Given the description of an element on the screen output the (x, y) to click on. 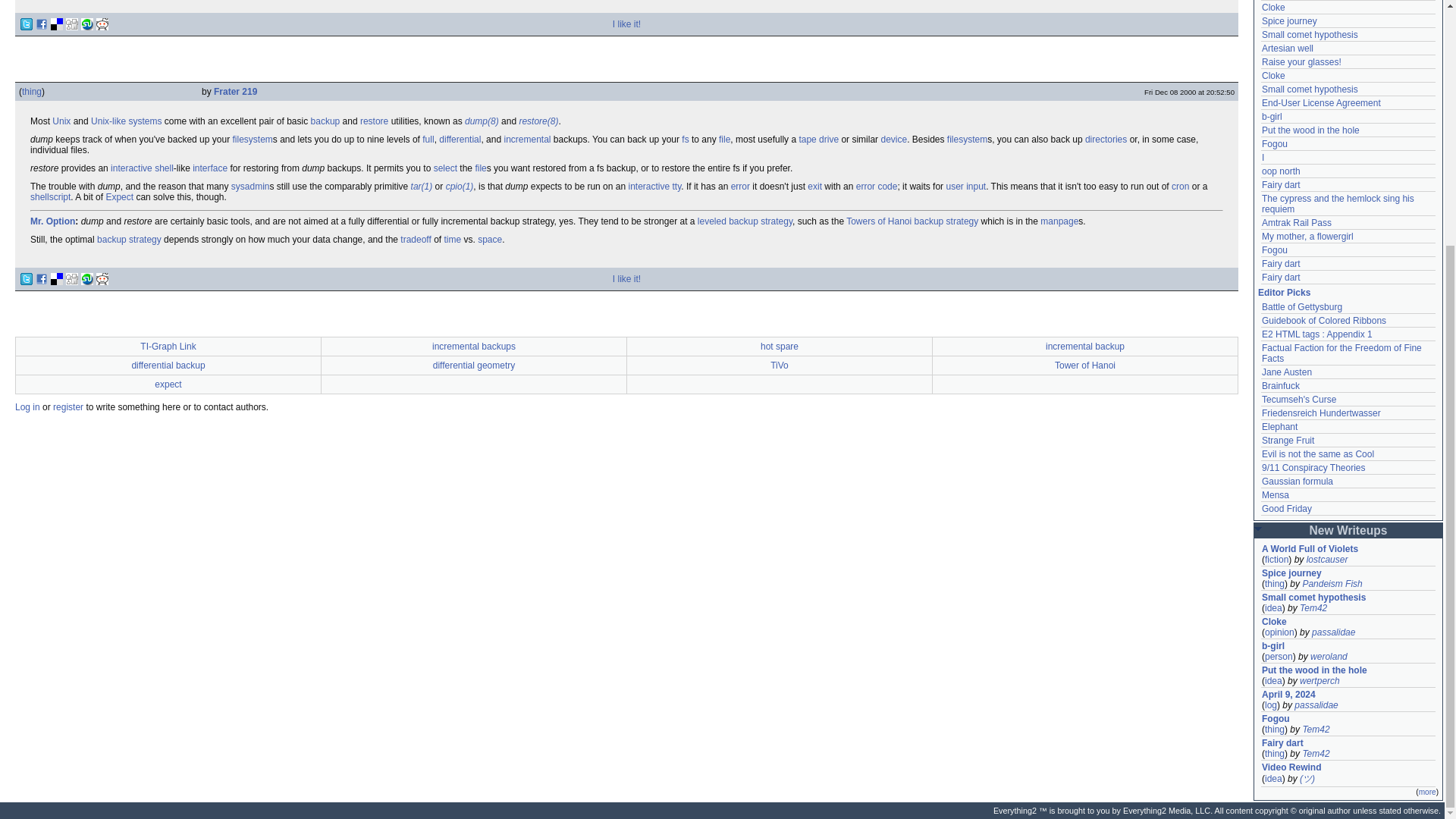
Frater 219 (235, 91)
restore (373, 121)
thing (31, 91)
I like it! (626, 23)
Unix (60, 121)
backup (325, 121)
Unix-like systems (125, 121)
